Given the description of an element on the screen output the (x, y) to click on. 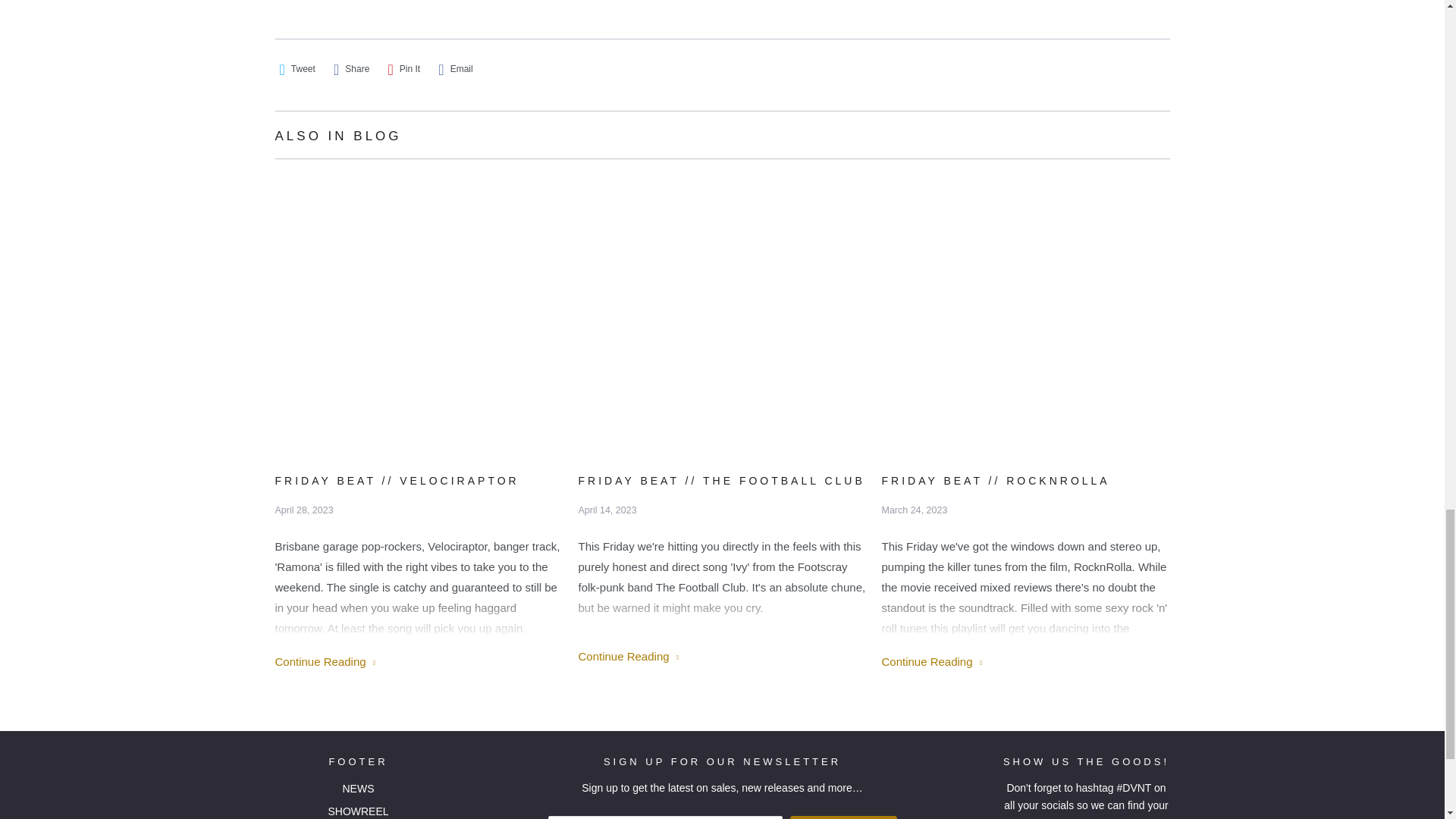
SHOWREEL (357, 811)
Email this to a friend (455, 68)
Continue Reading (930, 661)
Sign Up (843, 817)
Continue Reading (325, 661)
Email (455, 68)
Share this on Pinterest (404, 68)
Pin It (404, 68)
Share this on Facebook (351, 68)
Continue Reading (628, 656)
